Given the description of an element on the screen output the (x, y) to click on. 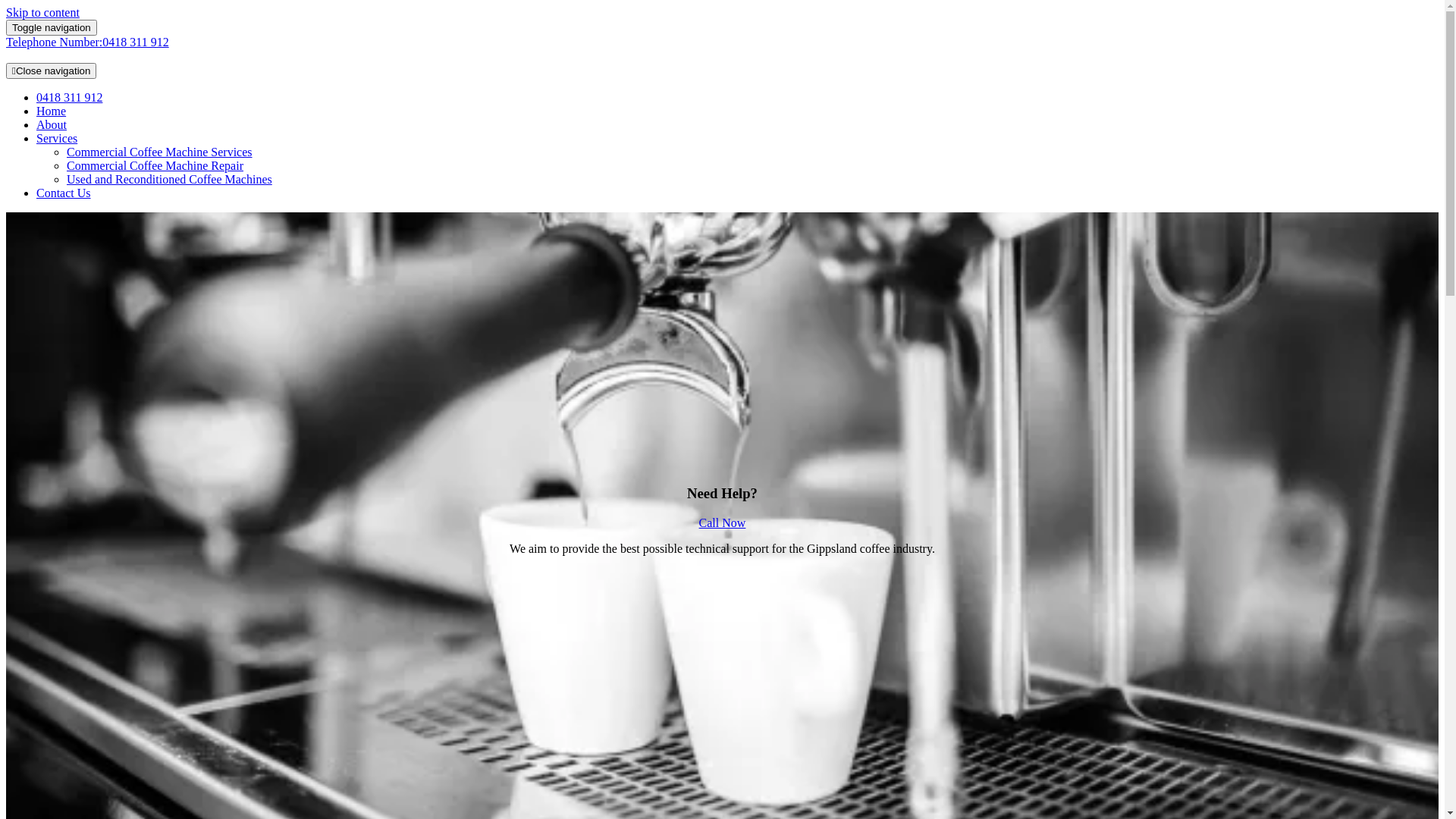
Skip to content Element type: text (42, 12)
Toggle navigation Element type: text (51, 27)
About Element type: text (51, 124)
Telephone Number:0418 311 912 Element type: text (87, 41)
Home Element type: text (50, 110)
0418 311 912 Element type: text (69, 97)
Used and Reconditioned Coffee Machines Element type: text (169, 178)
Commercial Coffee Machine Services Element type: text (159, 151)
Call Now Element type: text (722, 522)
Services Element type: text (56, 137)
Commercial Coffee Machine Repair Element type: text (154, 165)
Contact Us Element type: text (63, 192)
